Given the description of an element on the screen output the (x, y) to click on. 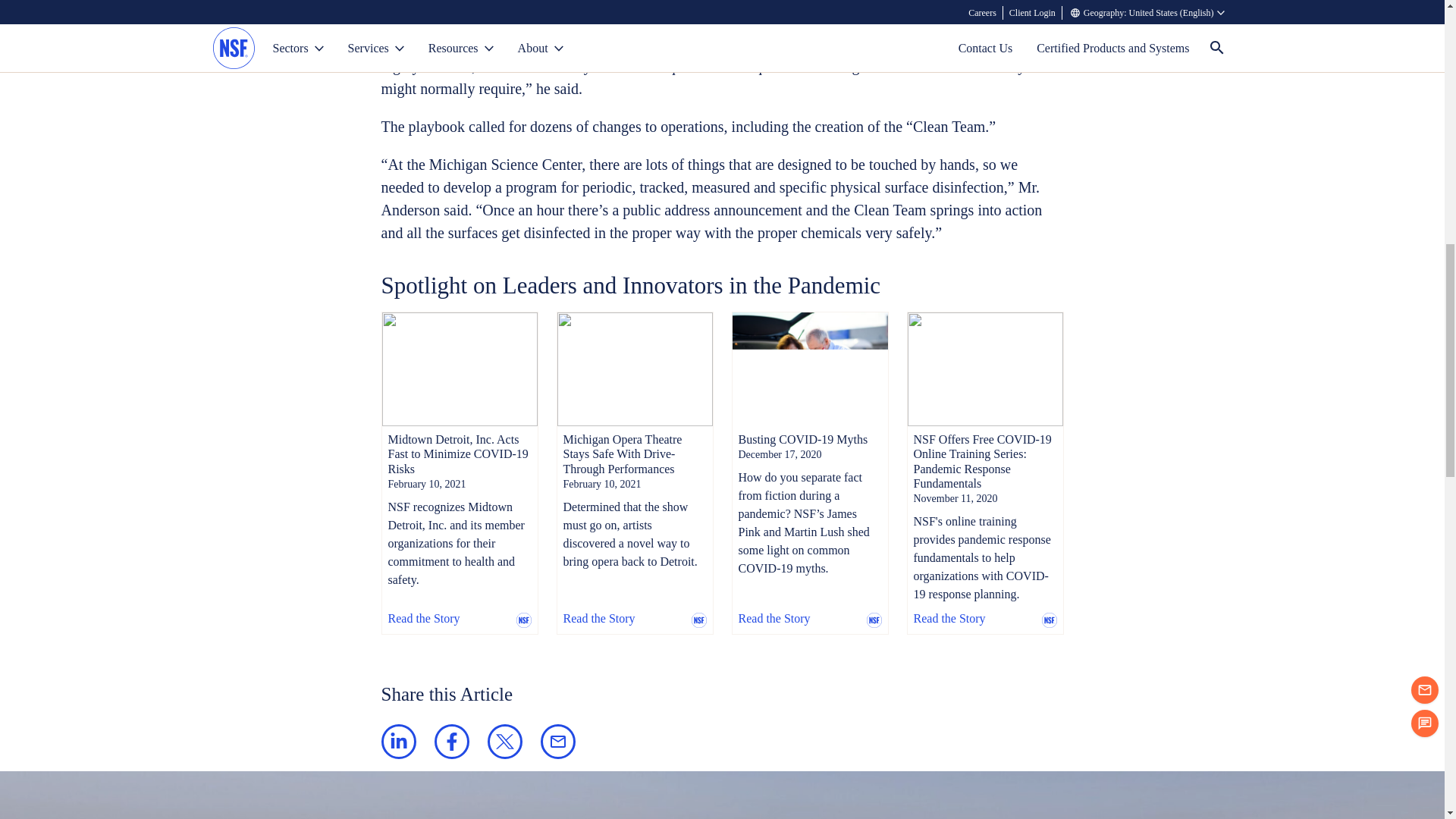
Share on Facebook (450, 741)
Share on LinkedIn (397, 741)
Share by Email (557, 741)
Share on Twitter (503, 741)
